Given the description of an element on the screen output the (x, y) to click on. 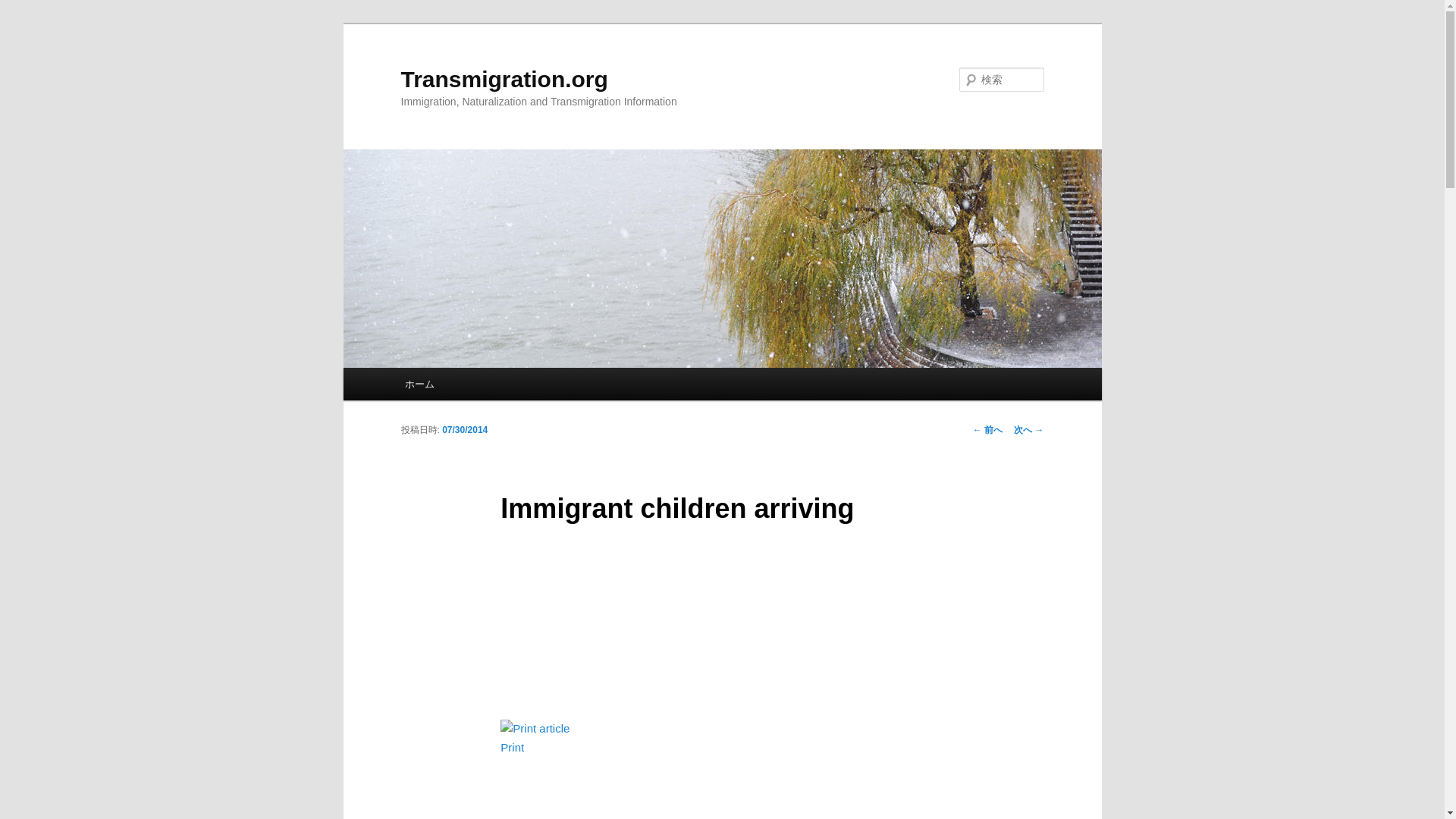
Transmigration.org (503, 78)
Print (534, 746)
Transmigration.org (503, 78)
12:17 AM (464, 429)
